Given the description of an element on the screen output the (x, y) to click on. 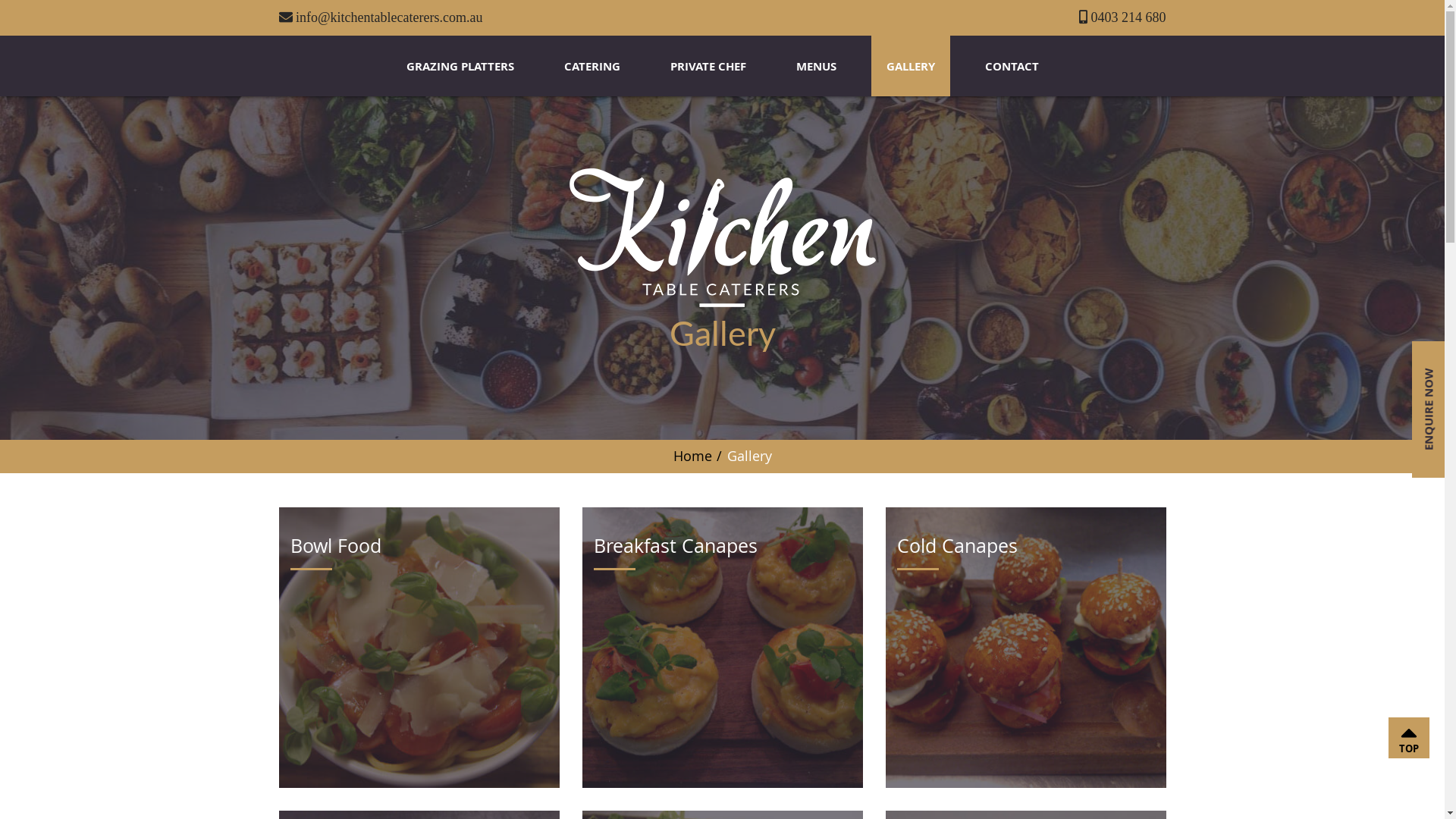
0403 214 680 Element type: text (1122, 17)
GRAZING PLATTERS Element type: text (460, 65)
Breakfast Canapes Element type: hover (722, 647)
Cold Canapes Element type: text (1025, 647)
info@kitchentablecaterers.com.au Element type: text (381, 17)
Home Element type: text (692, 455)
GALLERY Element type: text (909, 65)
PRIVATE CHEF Element type: text (708, 65)
Bowl Food Element type: text (419, 647)
Breakfast Canapes Element type: text (722, 647)
CATERING Element type: text (592, 65)
Bowl Food Element type: hover (419, 647)
Kitchen Table Caterers Element type: hover (721, 236)
Cold Canapes Element type: hover (1025, 647)
CONTACT Element type: text (1011, 65)
MENUS Element type: text (816, 65)
